Given the description of an element on the screen output the (x, y) to click on. 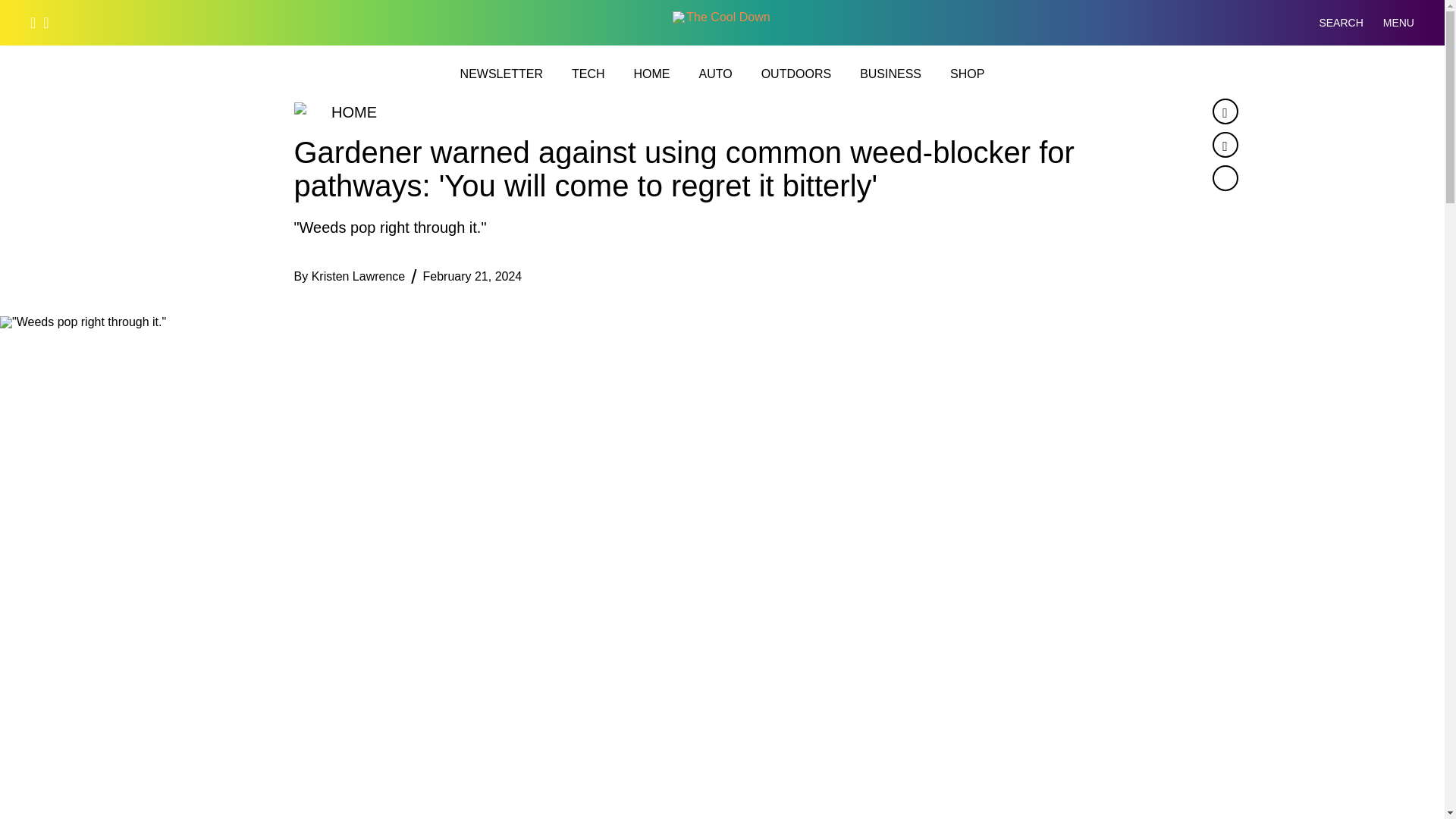
INSTAGRAM (45, 22)
AUTO (715, 73)
FACEBOOK (32, 22)
HOME (651, 73)
MENU (1398, 22)
BUSINESS (890, 73)
SEARCH (1328, 22)
NEWSLETTER (501, 73)
Facebook (1224, 111)
Twitter (1224, 144)
TECH (588, 73)
SHOP (967, 73)
OUTDOORS (796, 73)
